Given the description of an element on the screen output the (x, y) to click on. 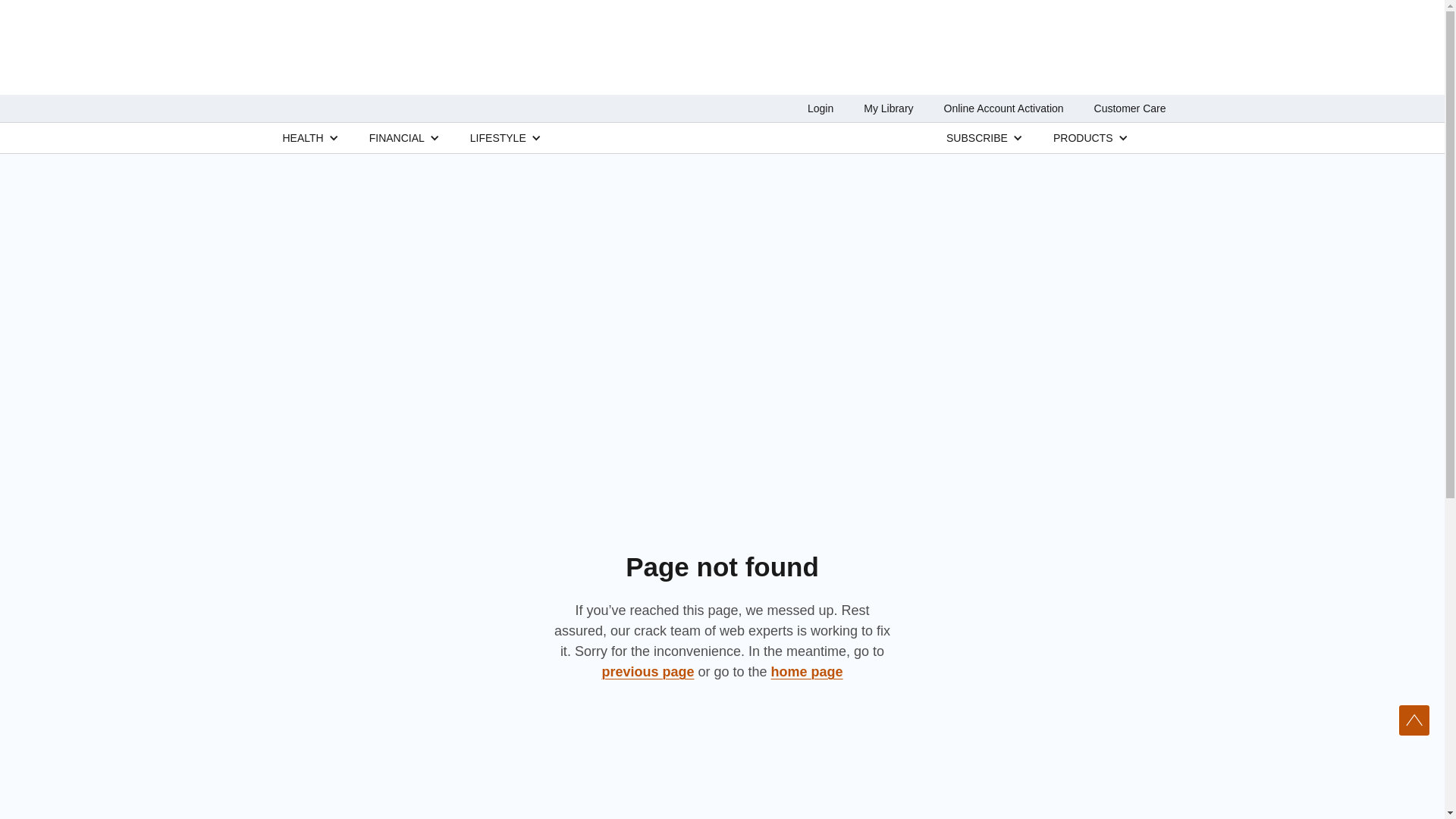
Scroll To Top (1414, 720)
My Library (887, 108)
Scroll To Top (1414, 720)
HEALTH (302, 137)
Customer Care (1130, 108)
Online Account Activation (1003, 108)
Scroll To Top (1414, 720)
FINANCIAL (397, 137)
Login (820, 108)
LIFESTYLE (497, 137)
